Given the description of an element on the screen output the (x, y) to click on. 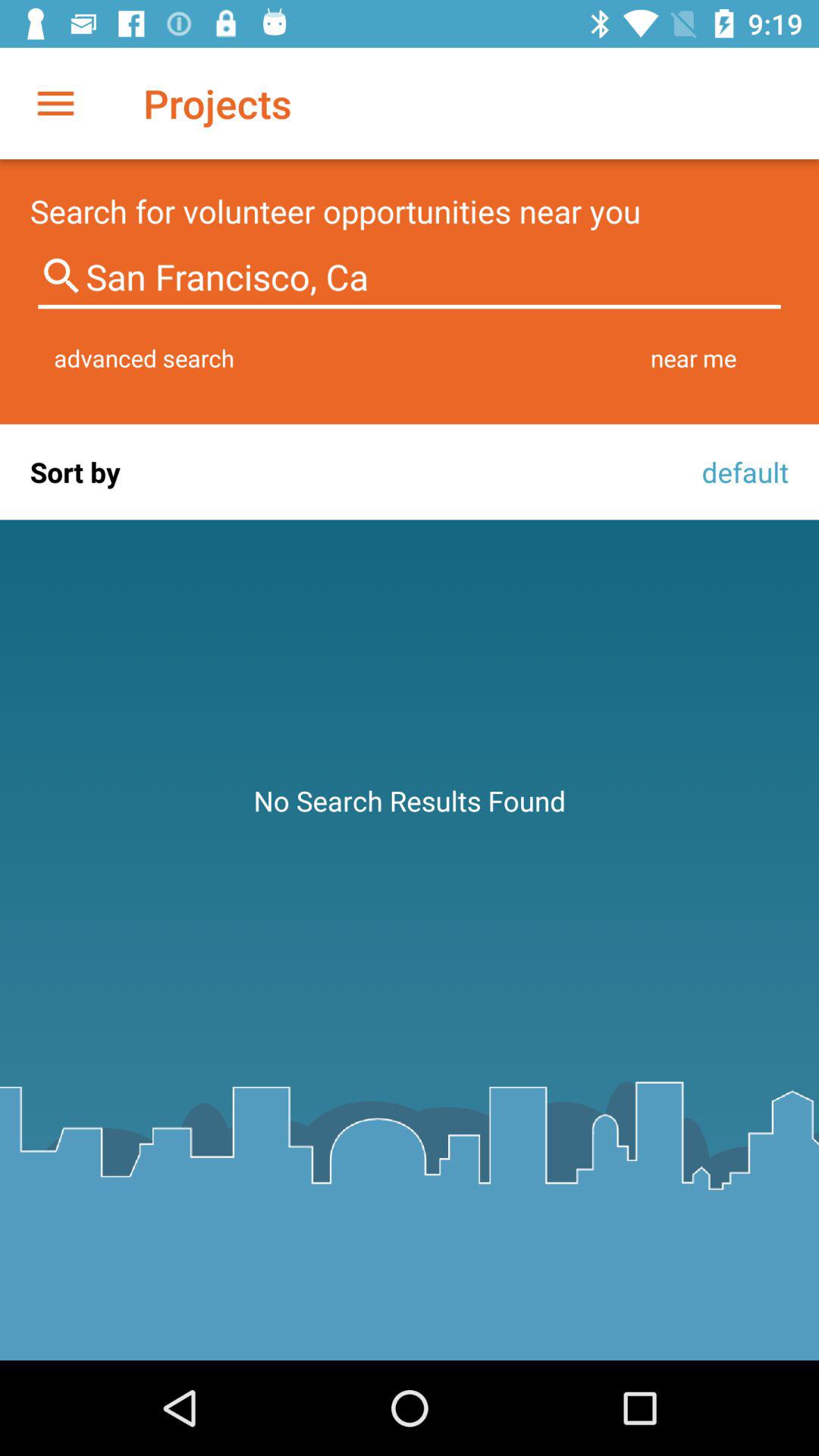
swipe until san francisco, ca item (409, 277)
